Given the description of an element on the screen output the (x, y) to click on. 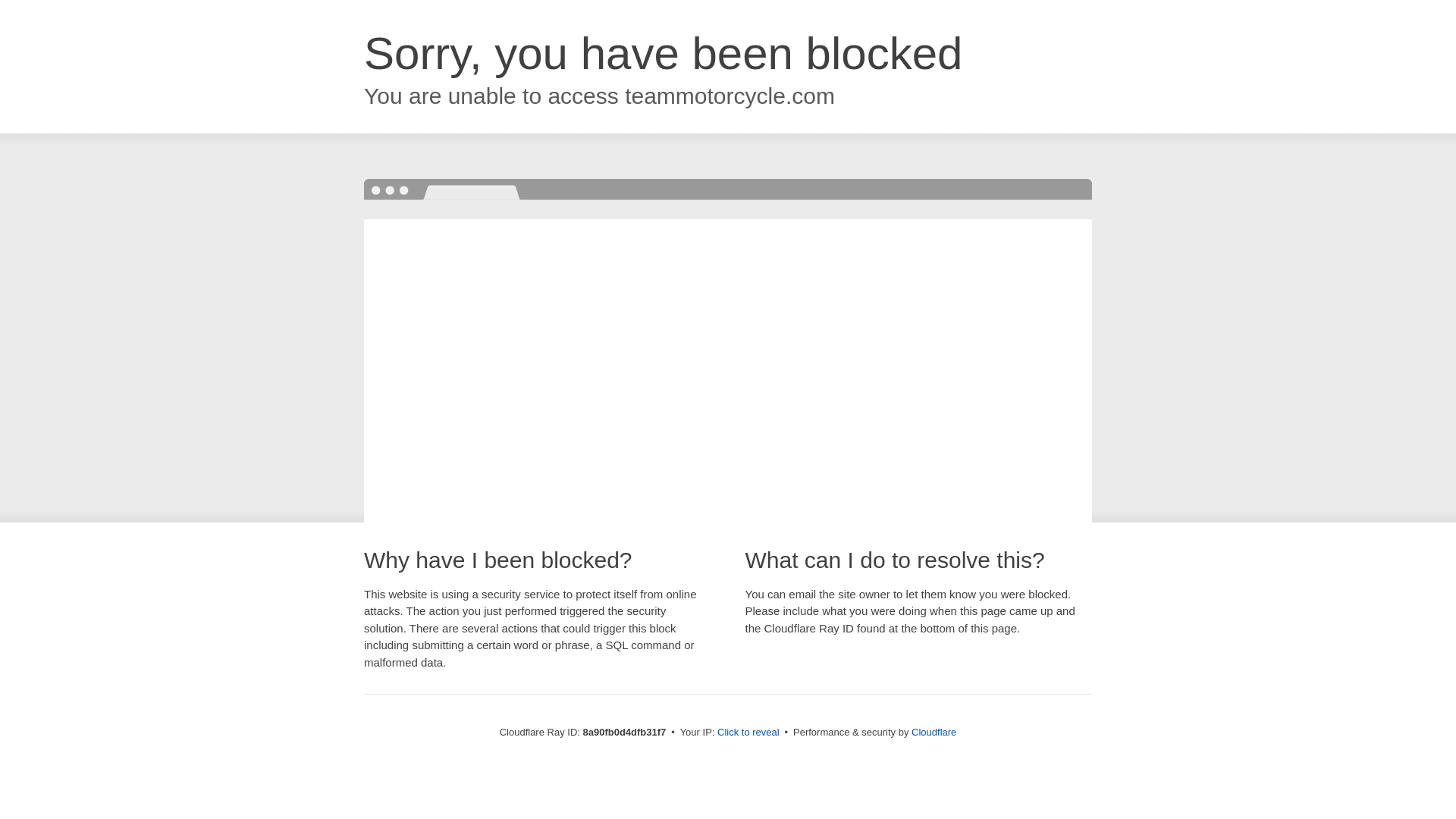
Click to reveal (747, 732)
Cloudflare (933, 731)
